Given the description of an element on the screen output the (x, y) to click on. 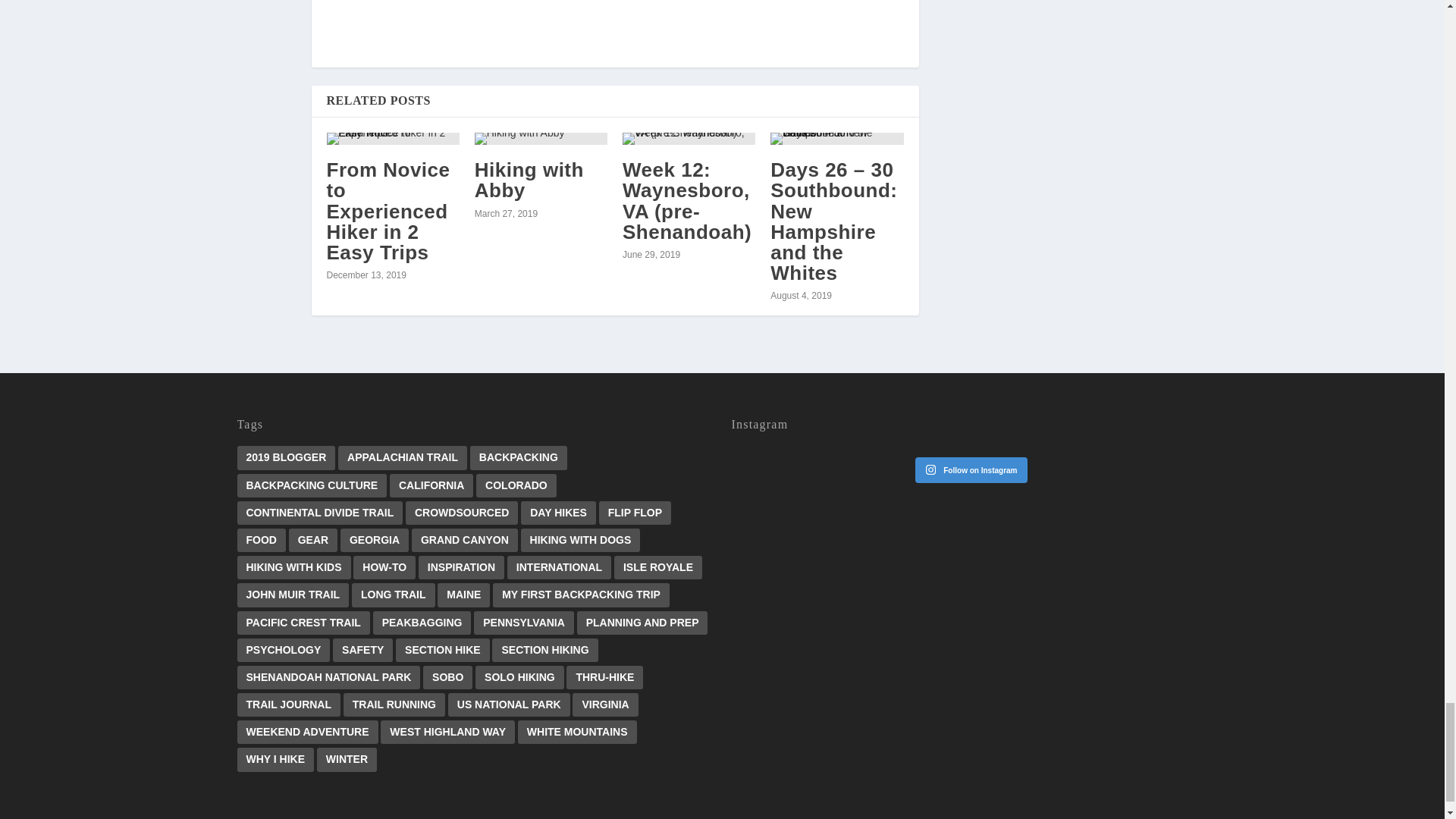
Hiking with Abby (528, 179)
BACKPACKING (518, 457)
From Novice to Experienced Hiker in 2 Easy Trips (387, 210)
APPALACHIAN TRAIL (402, 457)
2019 BLOGGER (284, 457)
